Given the description of an element on the screen output the (x, y) to click on. 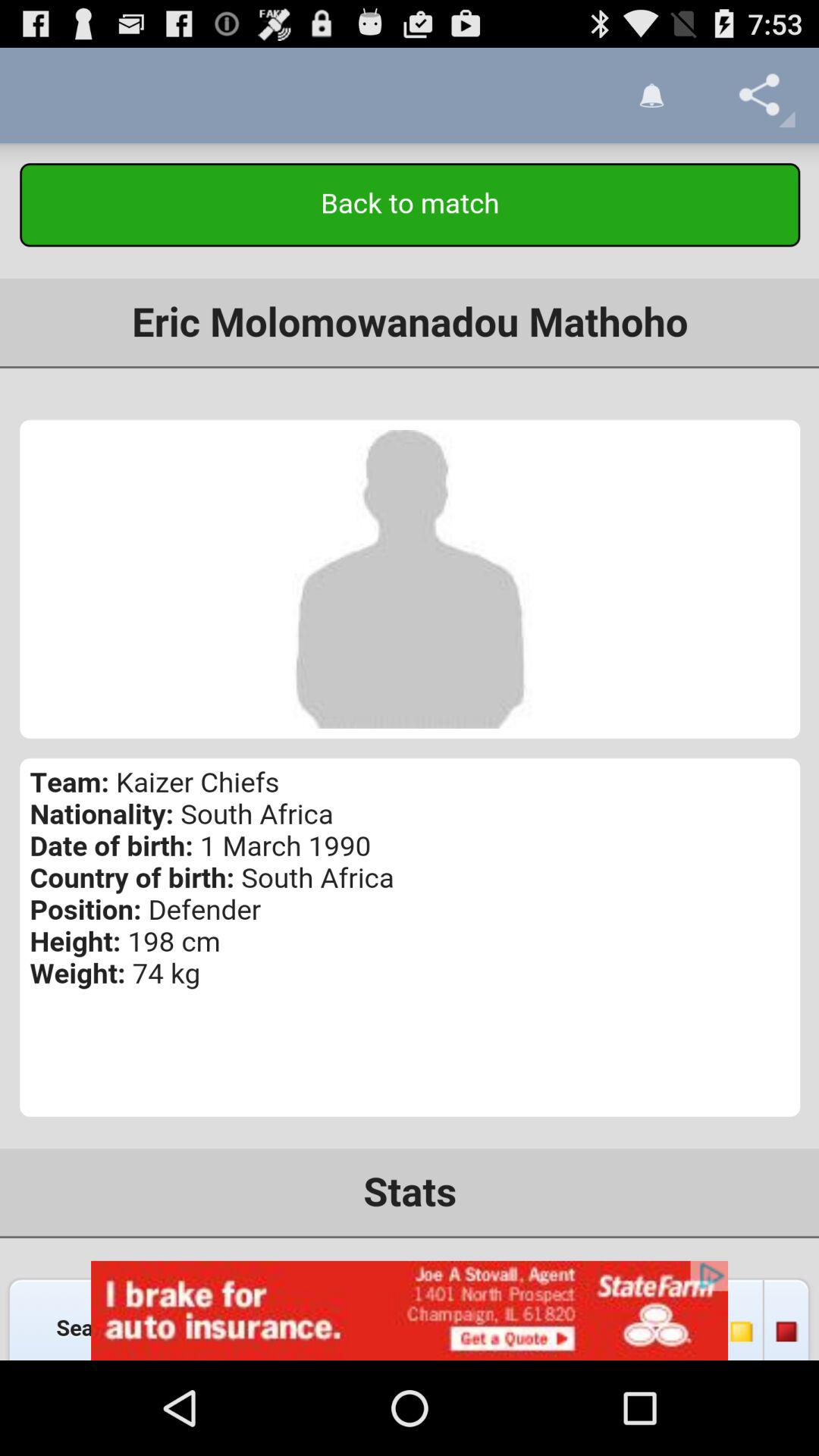
banner advertisement for state farm (409, 1310)
